Given the description of an element on the screen output the (x, y) to click on. 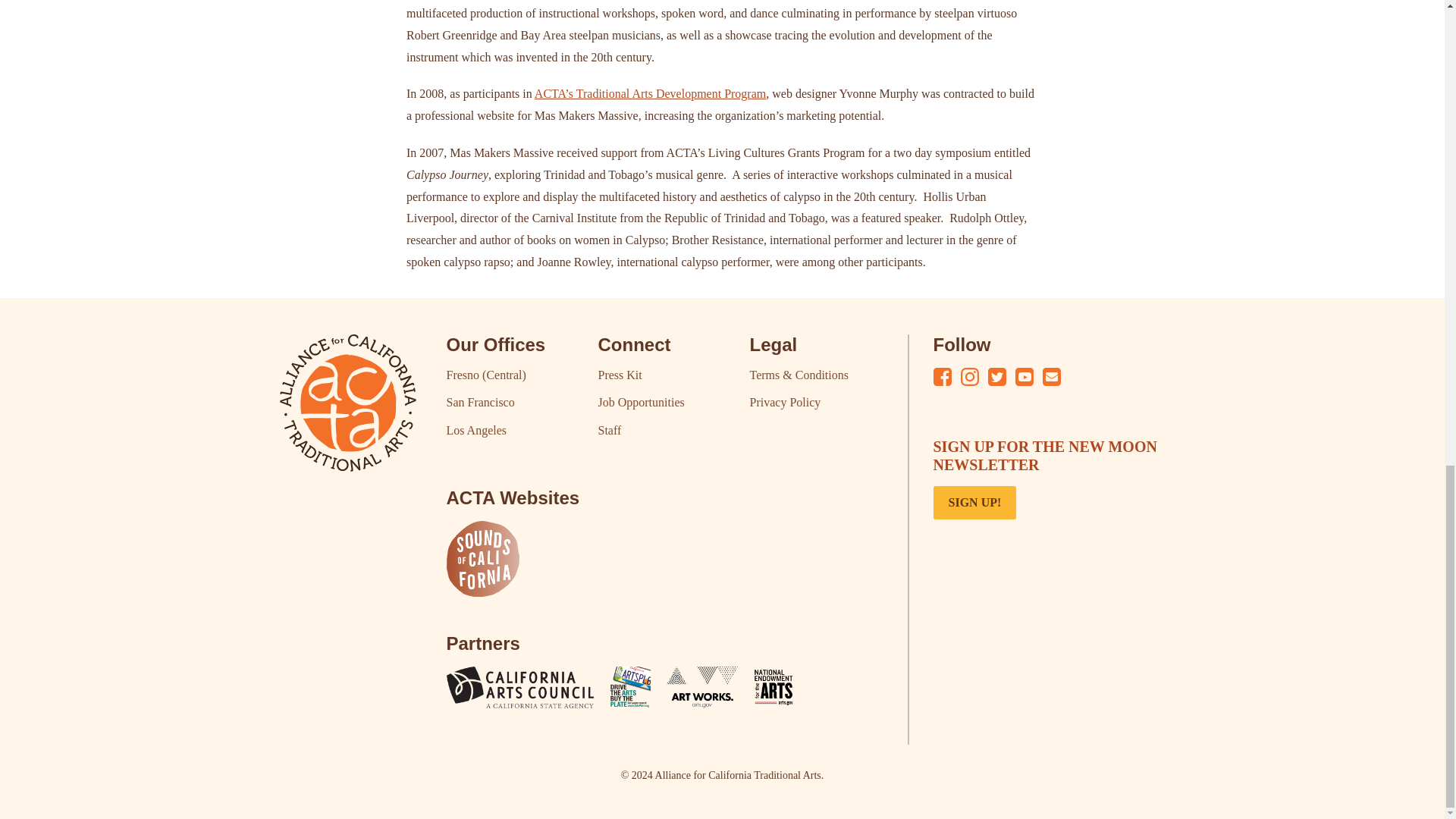
Home (346, 402)
